Given the description of an element on the screen output the (x, y) to click on. 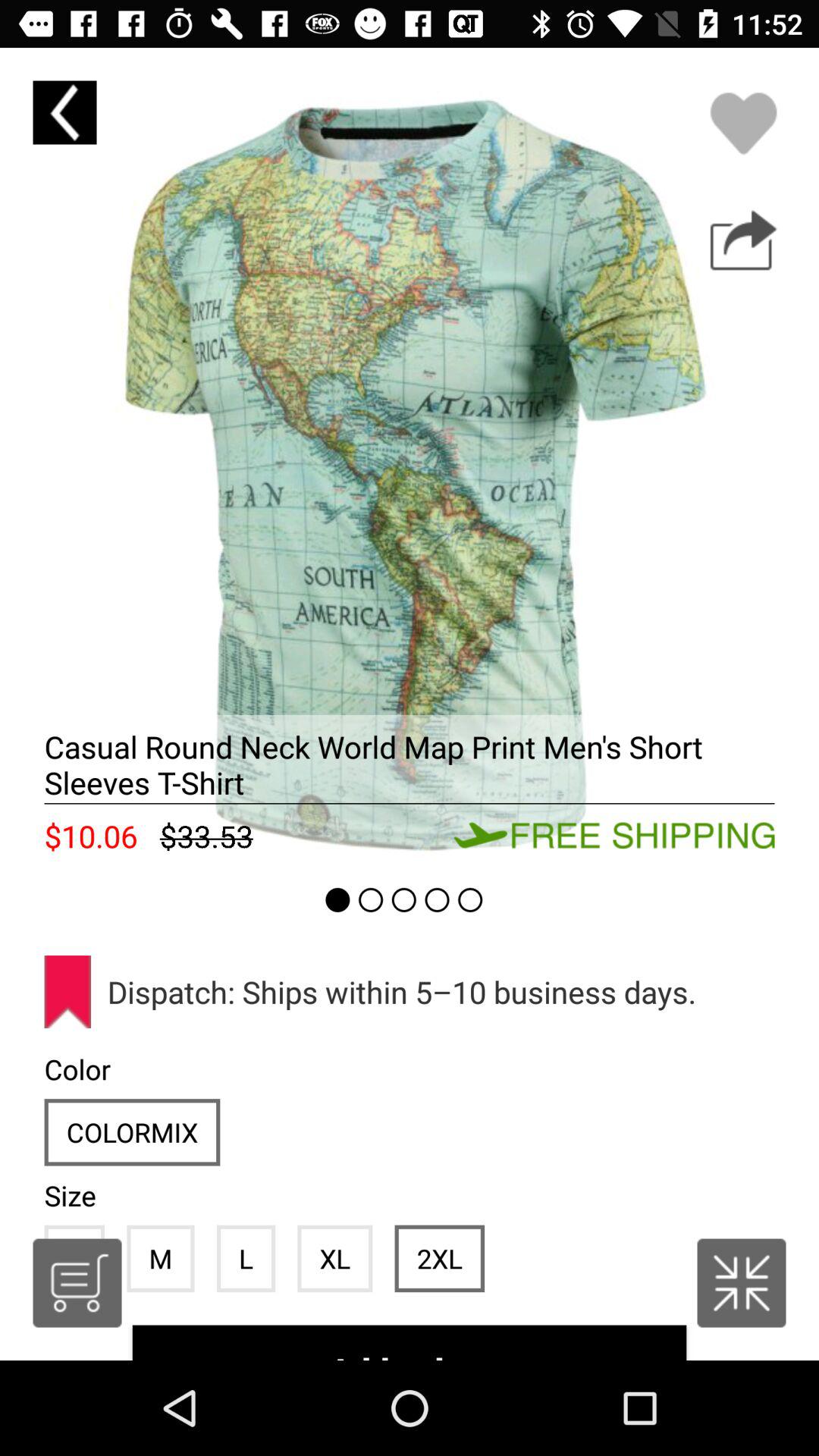
launch the colormix item (132, 1131)
